Given the description of an element on the screen output the (x, y) to click on. 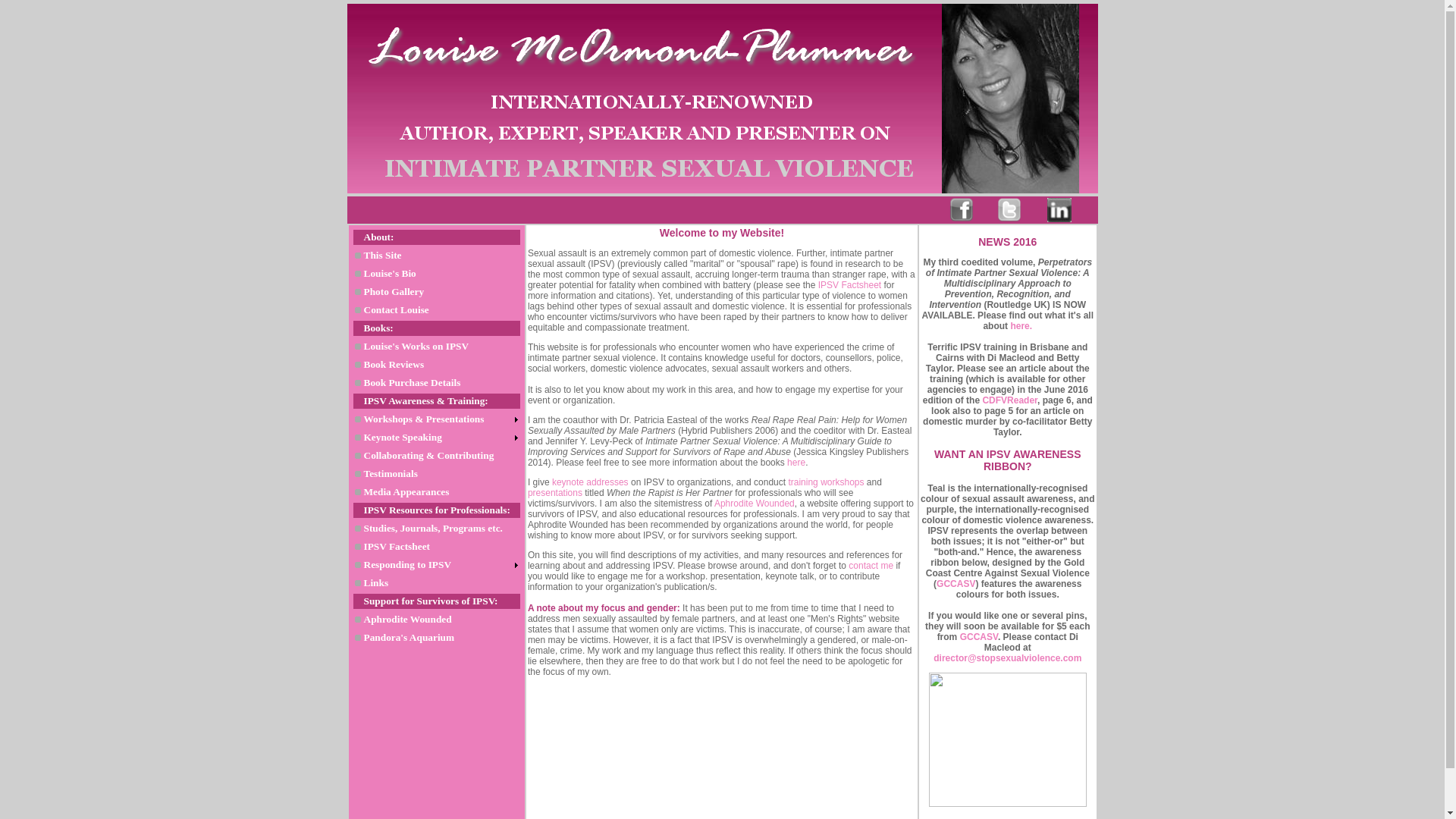
CDFVReader Element type: text (1009, 400)
Studies, Journals, Programs etc. Element type: text (436, 528)
Support for Survivors of IPSV: Element type: text (436, 600)
This Site Element type: text (436, 255)
Pandora's Aquarium Element type: text (436, 637)
IPSV Awareness & Training: Element type: text (436, 400)
Media Appearances Element type: text (436, 491)
Louise's Works on IPSV Element type: text (436, 346)
Louise's Bio Element type: text (436, 273)
Books: Element type: text (436, 327)
Contact Louise Element type: text (436, 309)
Collaborating & Contributing Element type: text (436, 455)
keynote addresses Element type: text (590, 481)
GCCASV Element type: text (955, 583)
IPSV Resources for Professionals: Element type: text (436, 509)
training workshops Element type: text (825, 481)
presentations Element type: text (554, 492)
About: Element type: text (436, 236)
Responding to IPSV Element type: text (436, 564)
IPSV Factsheet Element type: text (436, 546)
Testimonials Element type: text (436, 473)
Workshops & Presentations Element type: text (436, 418)
here. Element type: text (1021, 325)
director@stopsexualviolence.com Element type: text (1007, 657)
contact me Element type: text (870, 565)
here Element type: text (796, 462)
Keynote Speaking Element type: text (436, 437)
GCCASV Element type: text (978, 636)
Links Element type: text (436, 582)
Book Reviews Element type: text (436, 364)
Photo Gallery Element type: text (436, 291)
Aphrodite Wounded Element type: text (436, 619)
Aphrodite Wounded Element type: text (754, 503)
IPSV Factsheet Element type: text (849, 284)
Book Purchase Details Element type: text (436, 382)
